Given the description of an element on the screen output the (x, y) to click on. 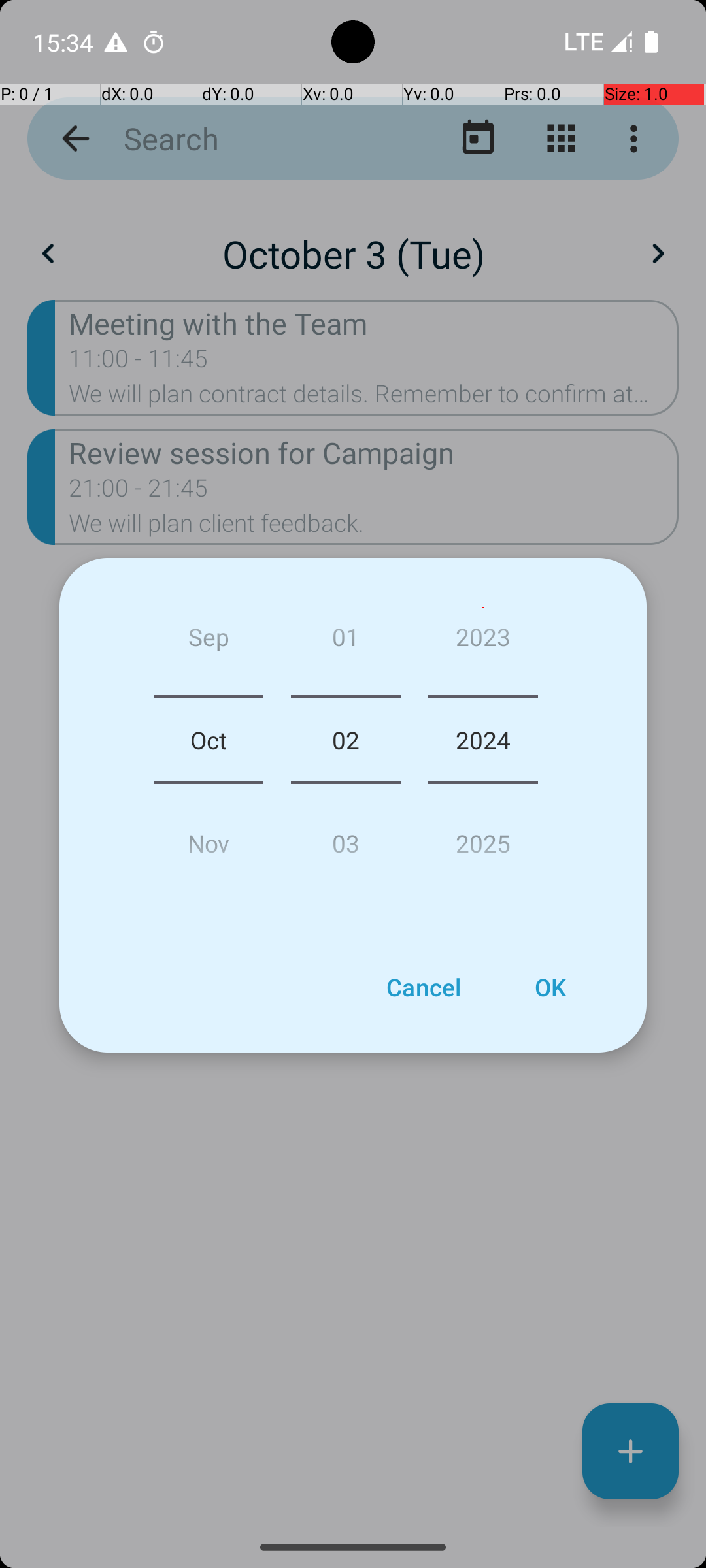
Sep Element type: android.widget.Button (208, 641)
Oct Element type: android.widget.EditText (208, 739)
Nov Element type: android.widget.Button (208, 837)
01 Element type: android.widget.Button (345, 641)
02 Element type: android.widget.EditText (345, 739)
03 Element type: android.widget.Button (345, 837)
2024 Element type: android.widget.EditText (482, 739)
2025 Element type: android.widget.Button (482, 837)
